Given the description of an element on the screen output the (x, y) to click on. 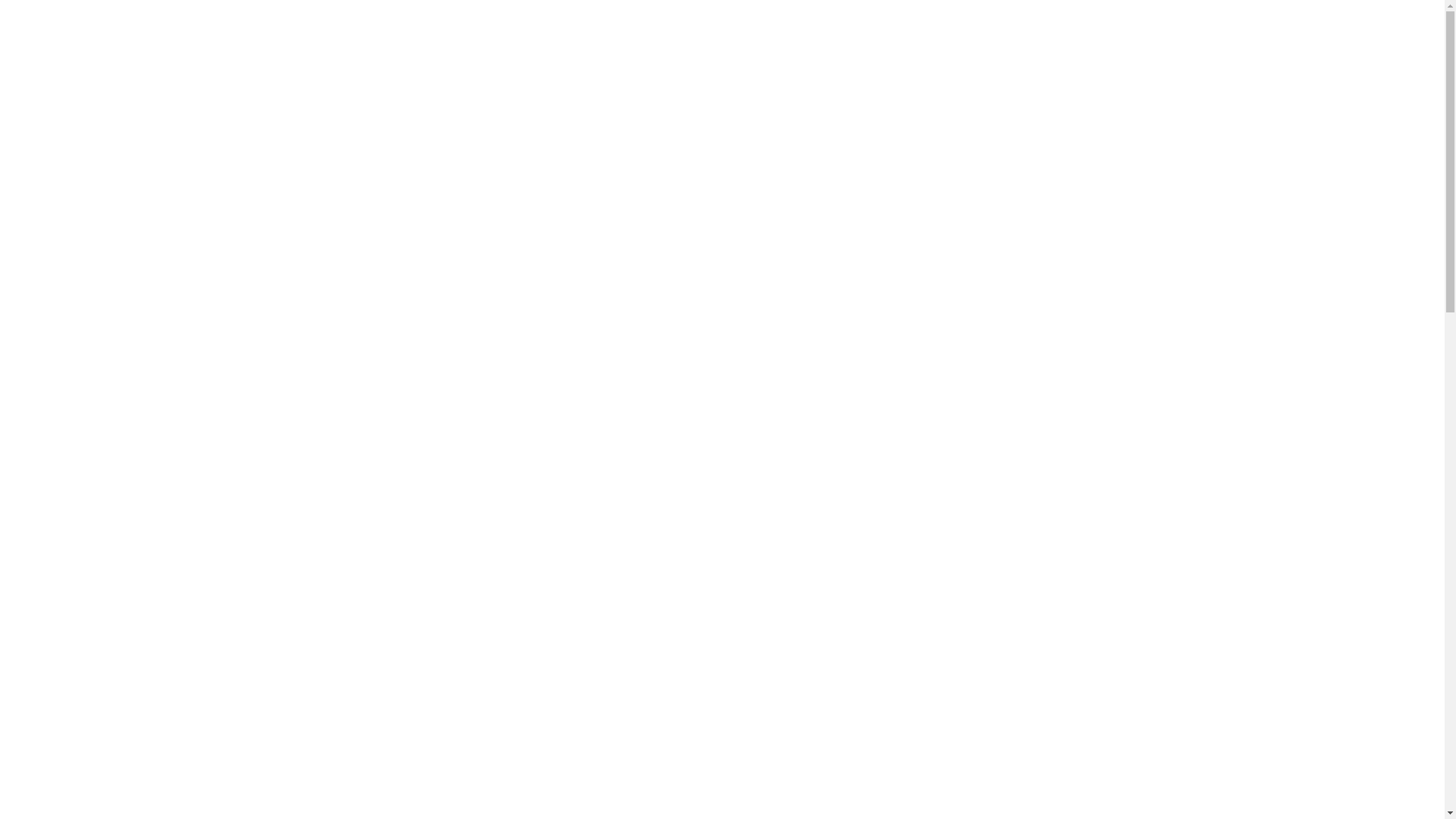
MORE Element type: text (307, 796)
Colors Element type: text (398, 478)
artem Element type: text (349, 478)
